Given the description of an element on the screen output the (x, y) to click on. 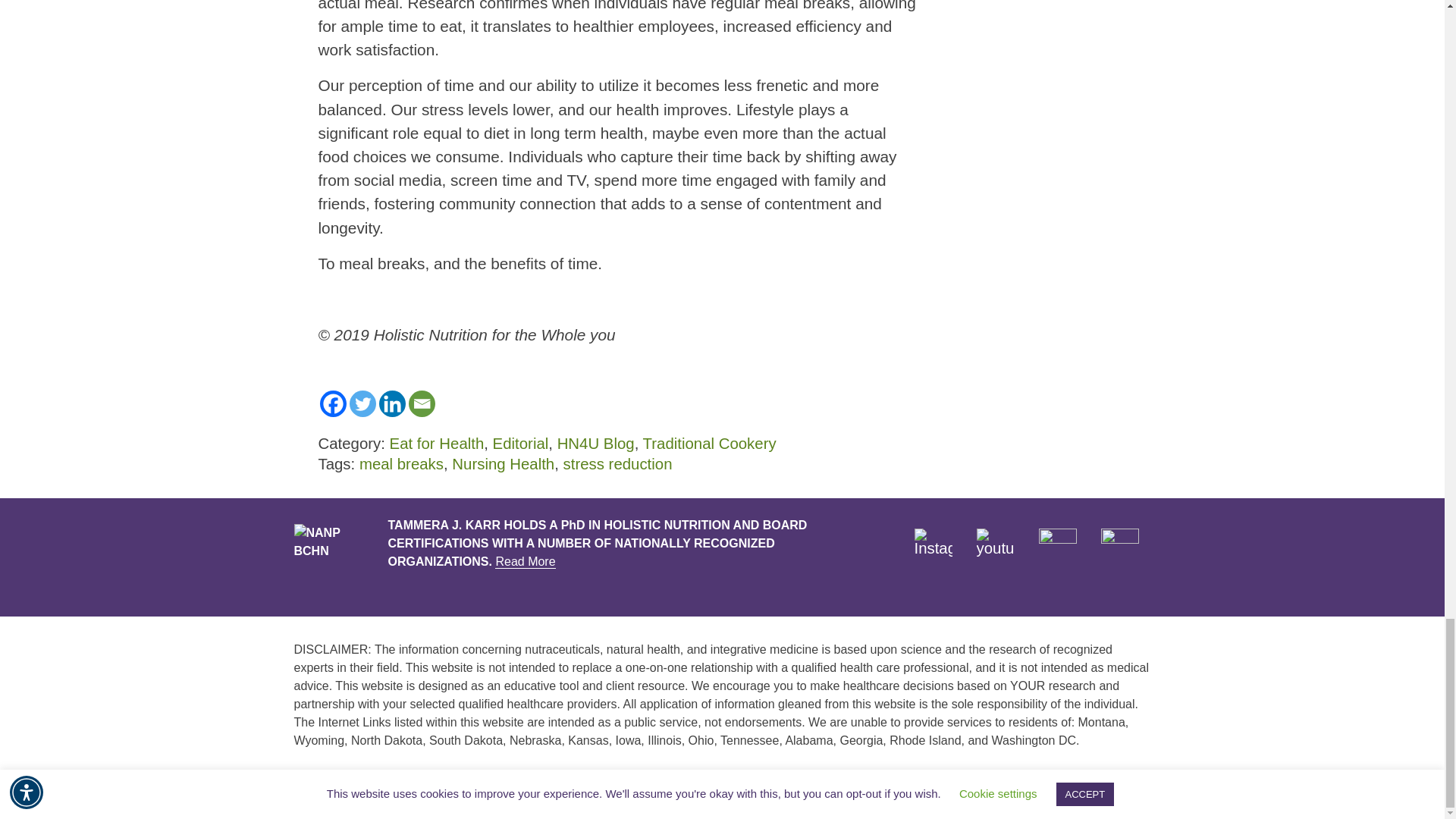
linked in (1119, 547)
Eat for Health (437, 443)
Facebook (333, 403)
instagram (933, 547)
Traditional Cookery (709, 443)
Email (420, 403)
facebook (1058, 547)
Twitter (362, 403)
Nursing Health (502, 463)
meal breaks (401, 463)
